Given the description of an element on the screen output the (x, y) to click on. 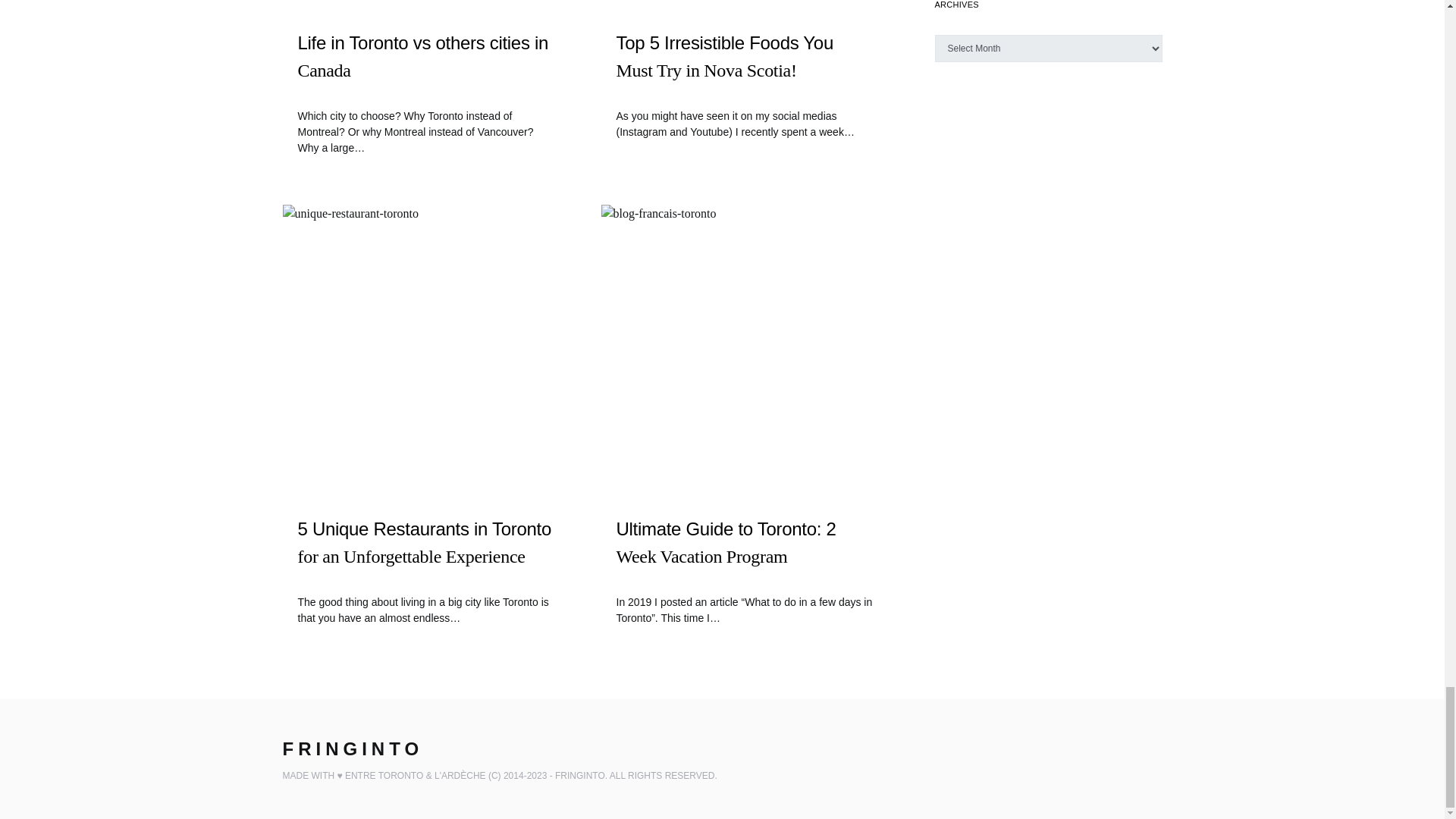
Life in Toronto vs others cities in Canada (425, 69)
Ultimate Guide to Toronto: 2 Week Vacation Program (744, 556)
Top 5 Irresistible Foods You Must Try in Nova Scotia! (744, 69)
